Given the description of an element on the screen output the (x, y) to click on. 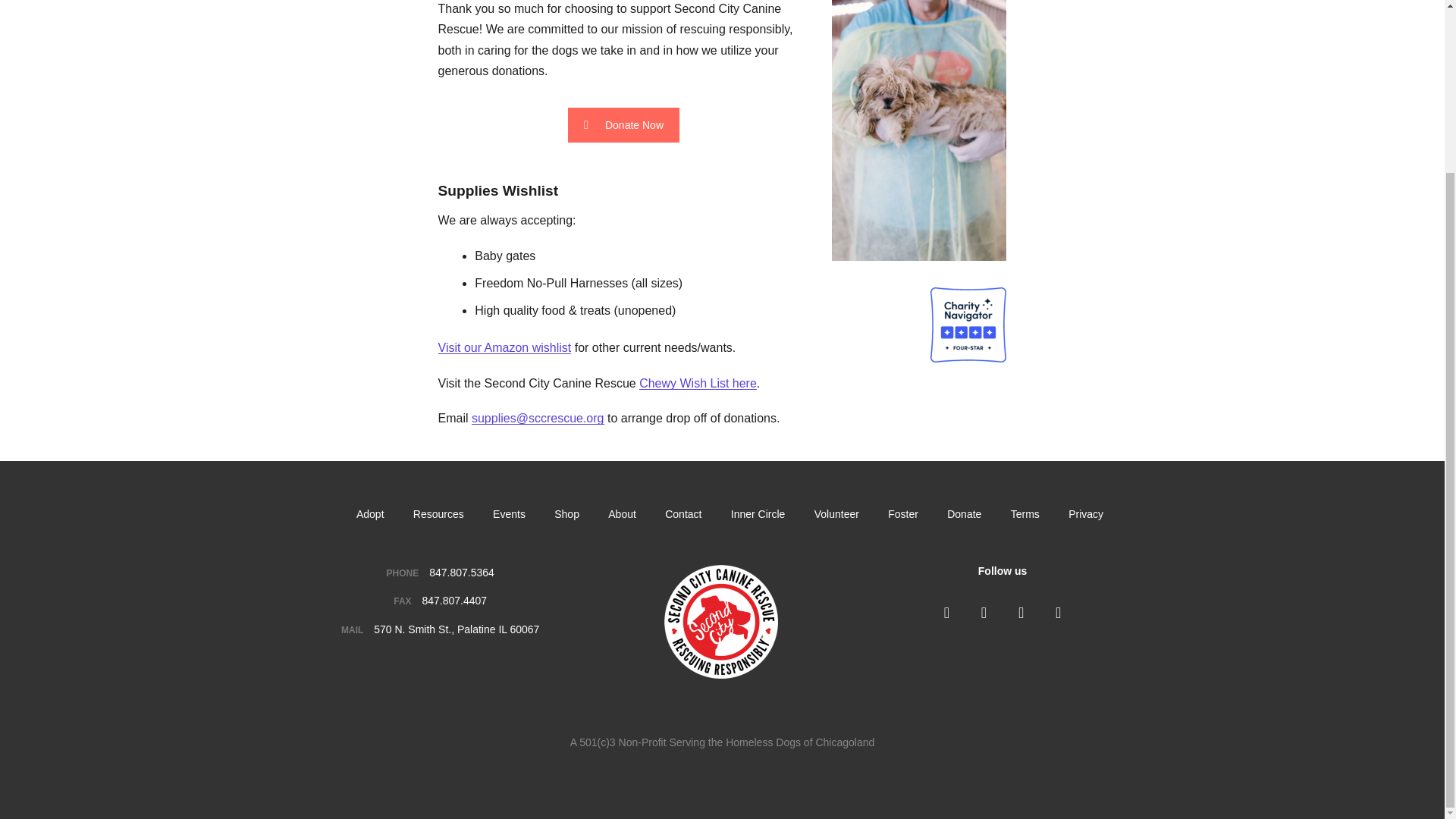
Four-Star Rating Badge - Full Color (968, 325)
Facebook (946, 612)
Instagram (983, 612)
